Given the description of an element on the screen output the (x, y) to click on. 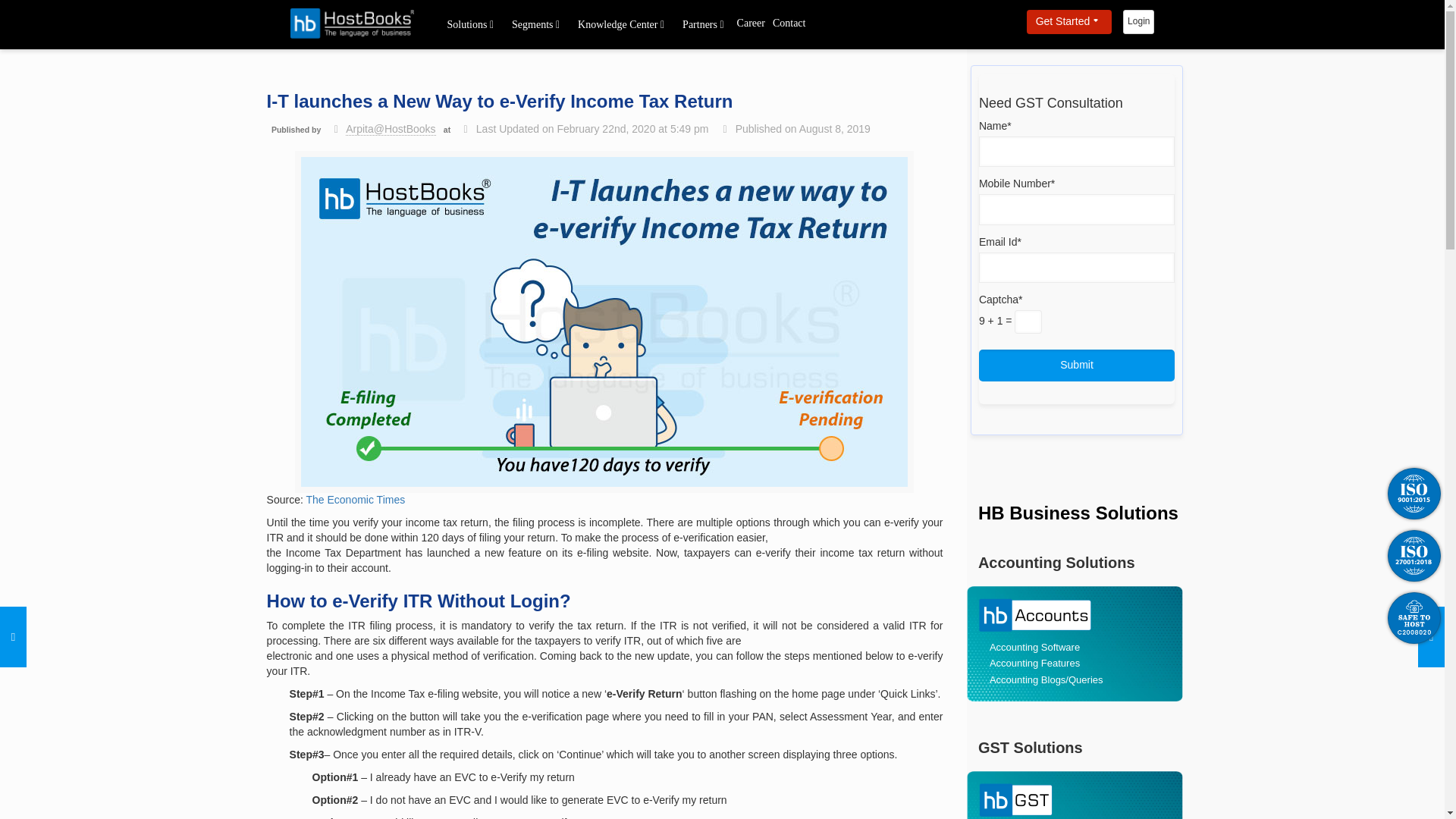
Contact (788, 22)
Knowledge Center (620, 24)
Submit (1076, 365)
Get Started (1069, 21)
Segments (535, 24)
Partners (702, 24)
Login (1138, 21)
Career (750, 22)
Solutions (470, 24)
